Given the description of an element on the screen output the (x, y) to click on. 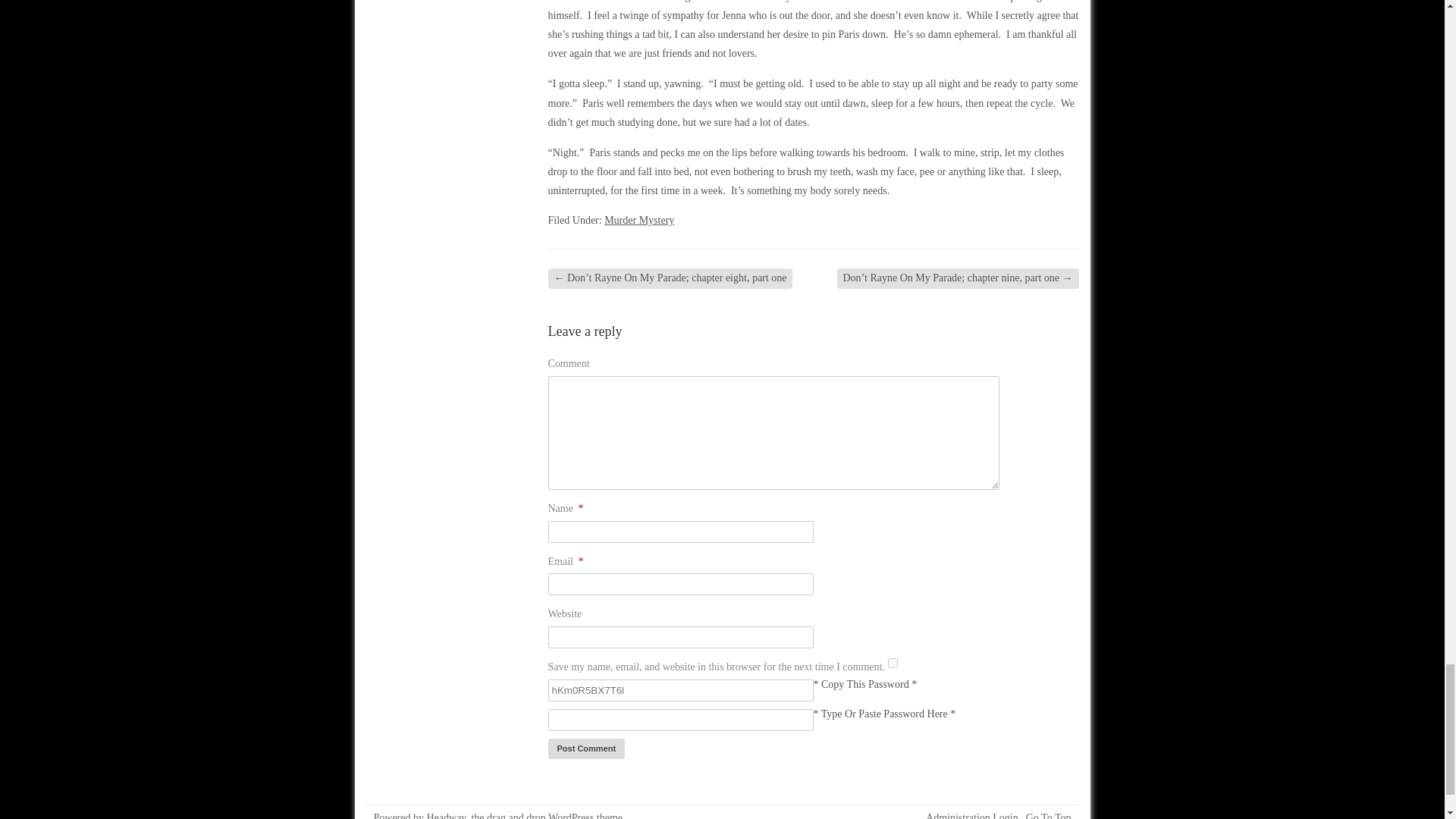
yes (893, 663)
Headway Premium WordPress Theme (554, 815)
hKm0R5BX7T6l (679, 690)
Post Comment (585, 748)
